Given the description of an element on the screen output the (x, y) to click on. 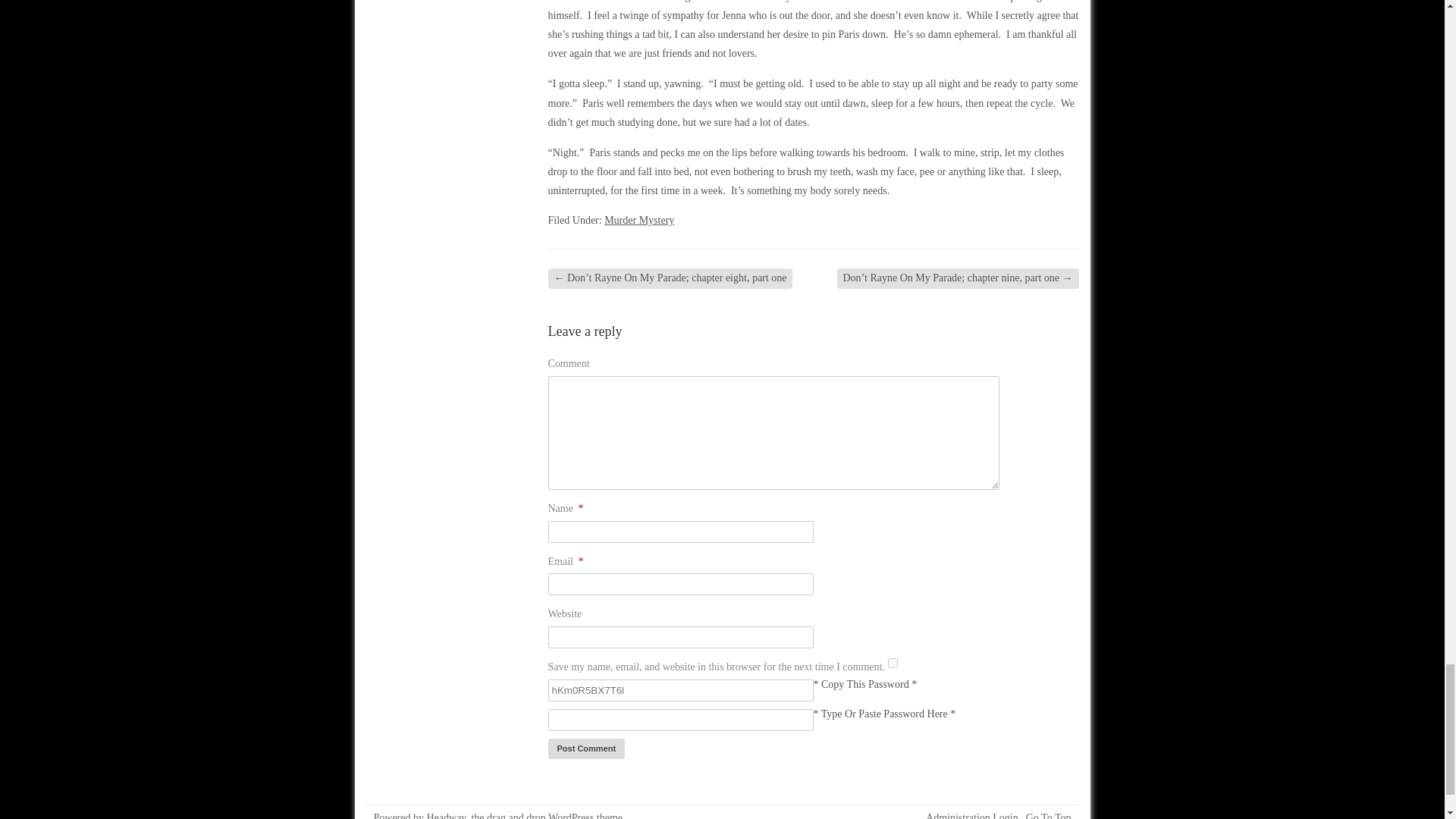
yes (893, 663)
Headway Premium WordPress Theme (554, 815)
hKm0R5BX7T6l (679, 690)
Post Comment (585, 748)
